Given the description of an element on the screen output the (x, y) to click on. 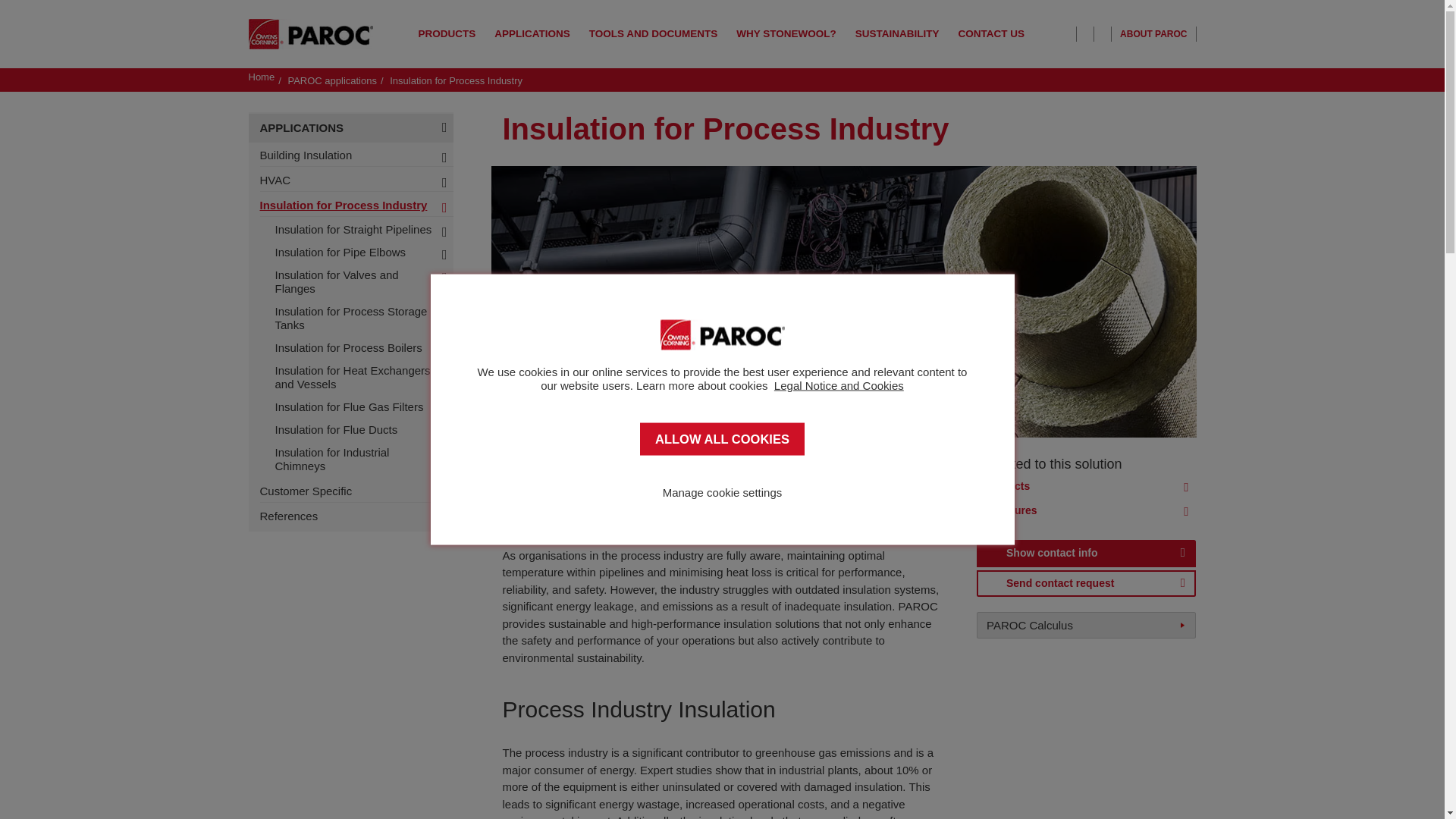
Legal Notice and Cookies (839, 385)
CONTACT US (991, 33)
Owens Corning Paroc (310, 33)
Manage cookie settings (722, 491)
TOOLS AND DOCUMENTS (653, 33)
SUSTAINABILITY (897, 33)
WHY STONEWOOL? (785, 33)
Link to calculators page (1030, 625)
APPLICATIONS (532, 33)
PRODUCTS (447, 33)
ALLOW ALL COOKIES (722, 439)
